Given the description of an element on the screen output the (x, y) to click on. 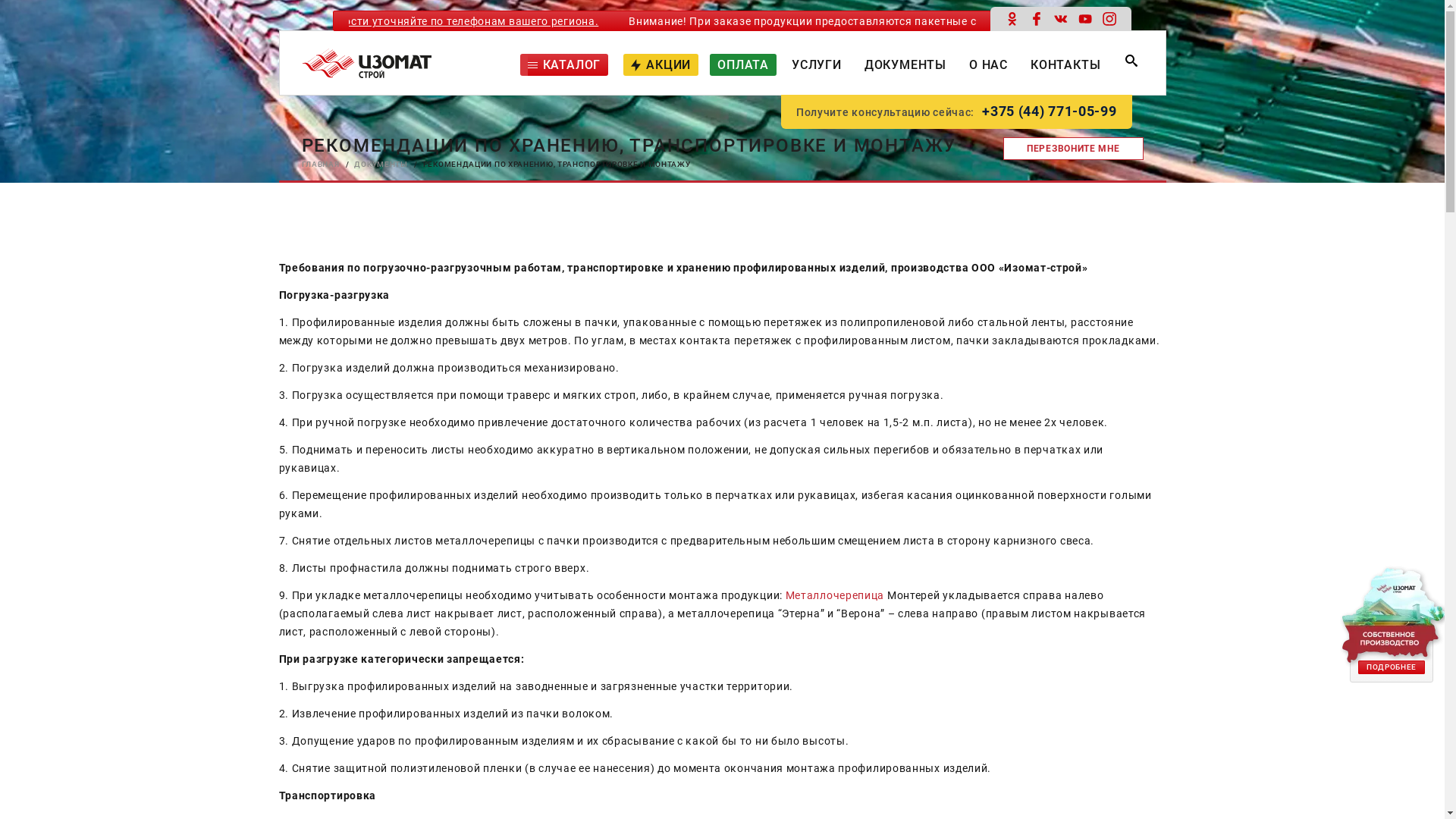
instagram Element type: hover (1108, 18)
facebook Element type: hover (1035, 18)
youtube Element type: hover (1084, 18)
odnoklassniki Element type: hover (1011, 18)
vk Element type: hover (1059, 18)
+375 (44) 771-05-99 Element type: text (1049, 111)
